Given the description of an element on the screen output the (x, y) to click on. 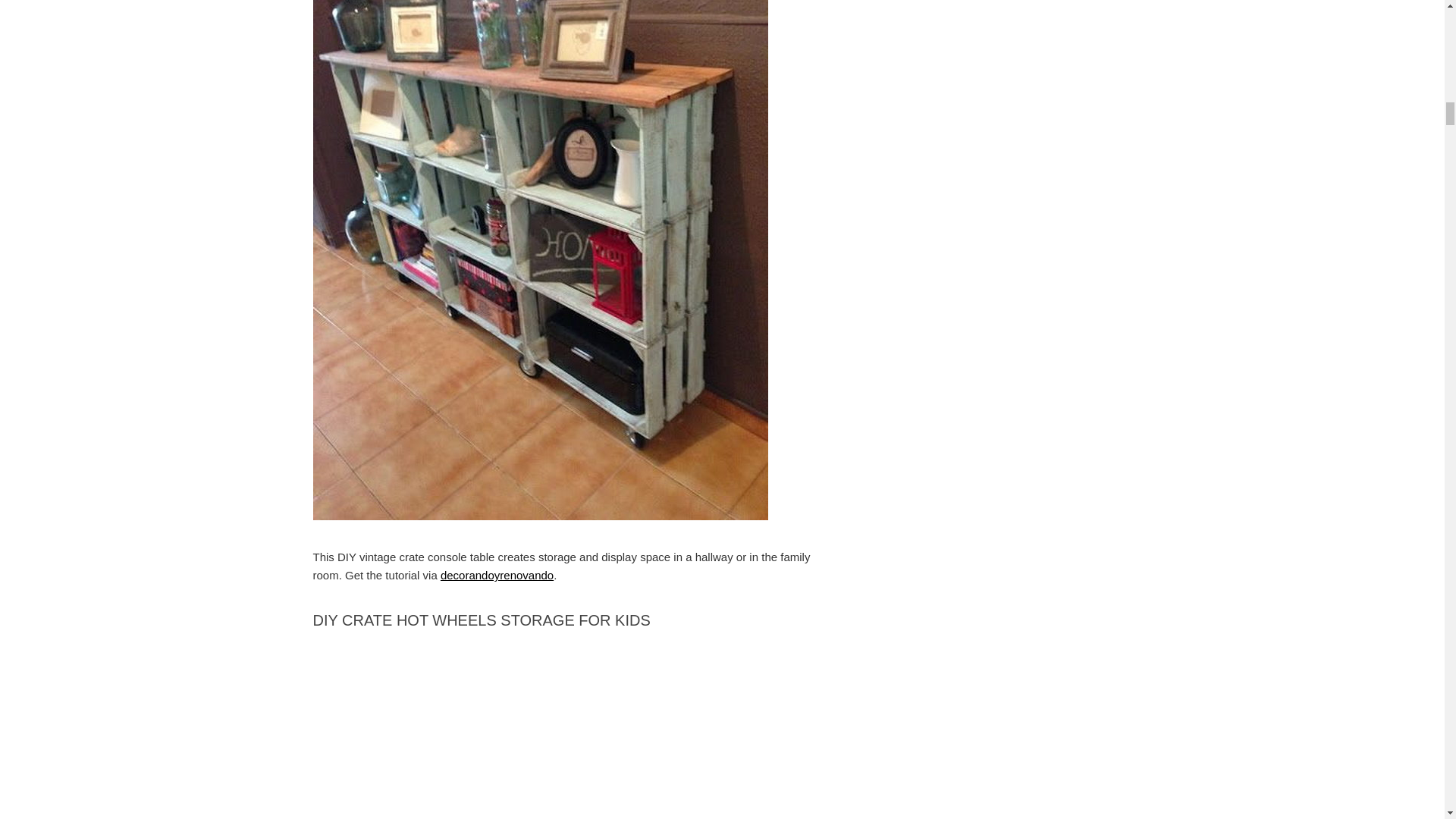
decorandoyrenovando (497, 574)
